Given the description of an element on the screen output the (x, y) to click on. 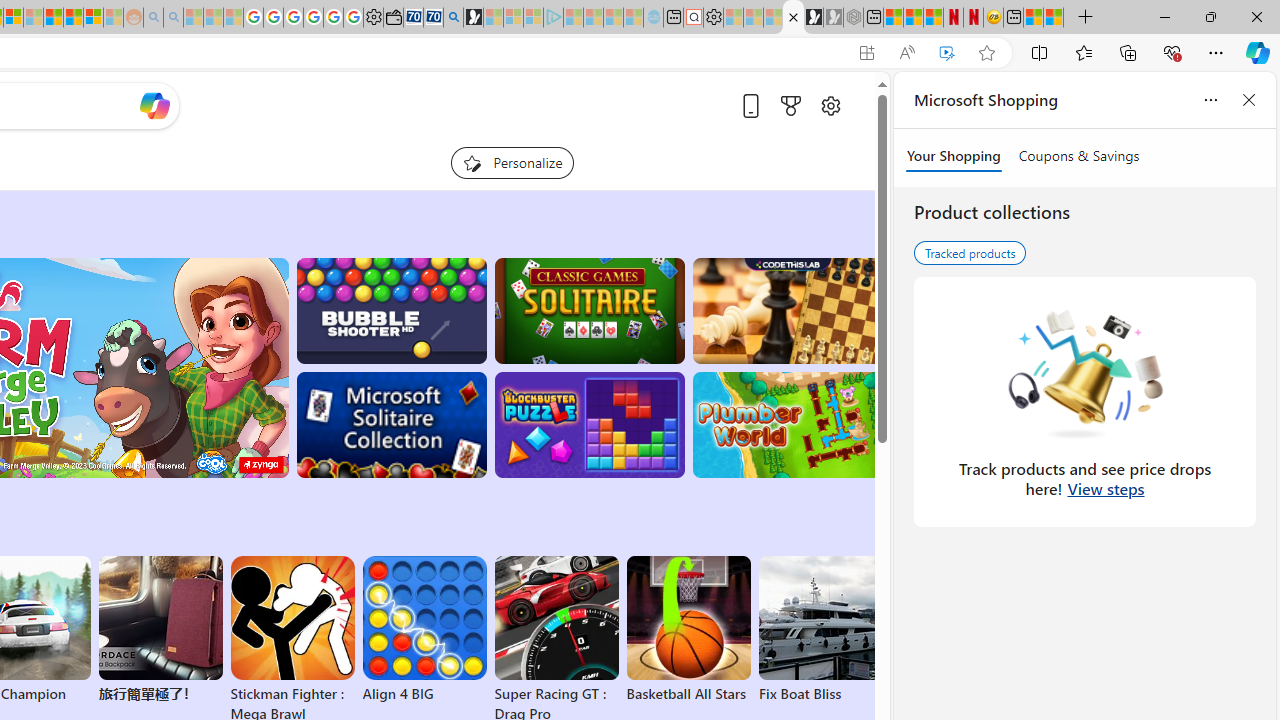
Wildlife - MSN (1033, 17)
Microsoft Solitaire Collection (390, 425)
Expert Portfolios (52, 17)
Classic Solitaire (589, 310)
Enhance video (946, 53)
